Given the description of an element on the screen output the (x, y) to click on. 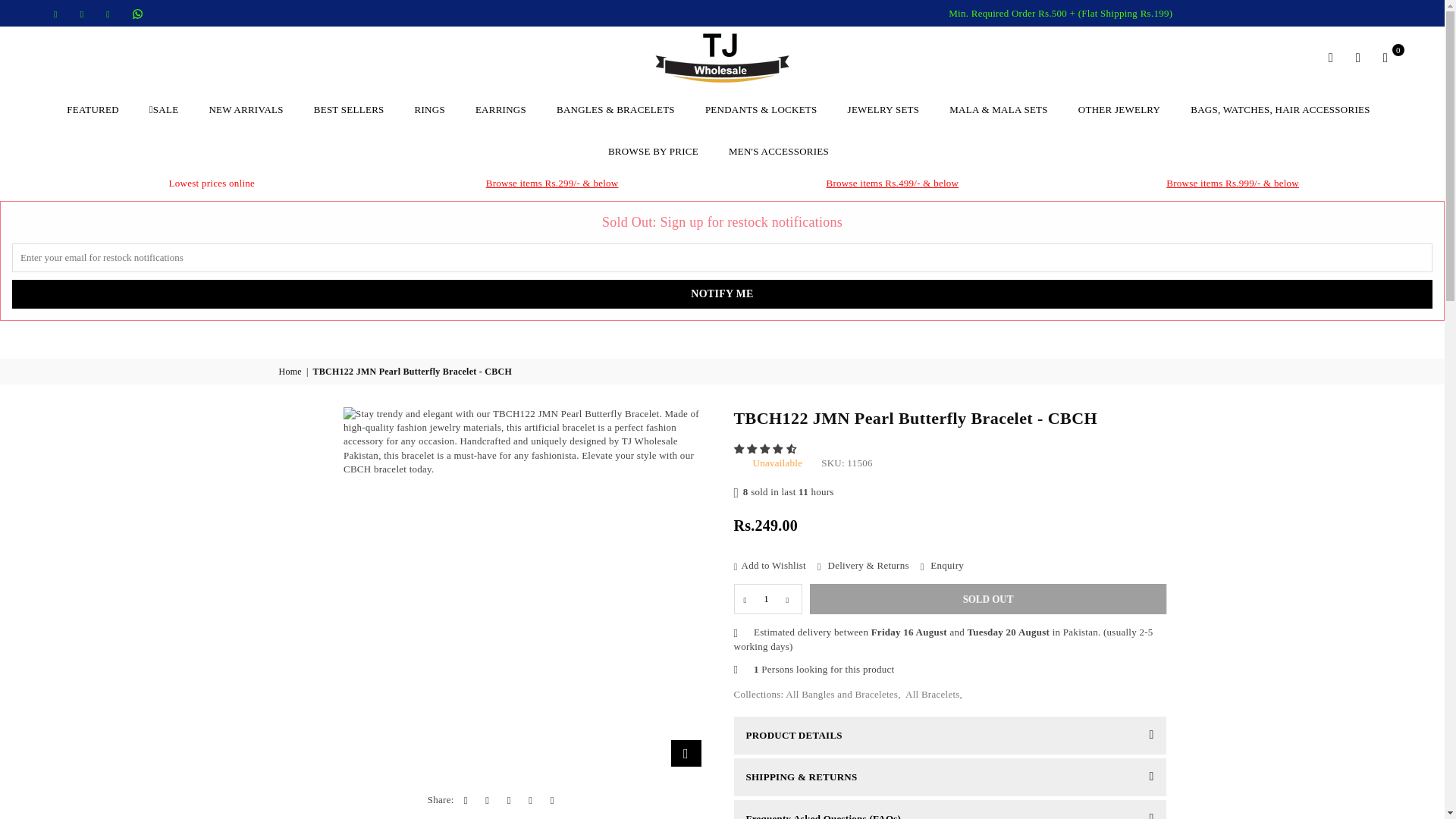
Quantity (767, 598)
0 (1385, 56)
EARRINGS (500, 109)
Facebook (56, 13)
BEST SELLERS (349, 109)
Wishlist (1357, 56)
Whatsapp (138, 14)
NEW ARRIVALS (245, 109)
TJ Wholesale on YouTube (108, 13)
Search (1330, 56)
